Given the description of an element on the screen output the (x, y) to click on. 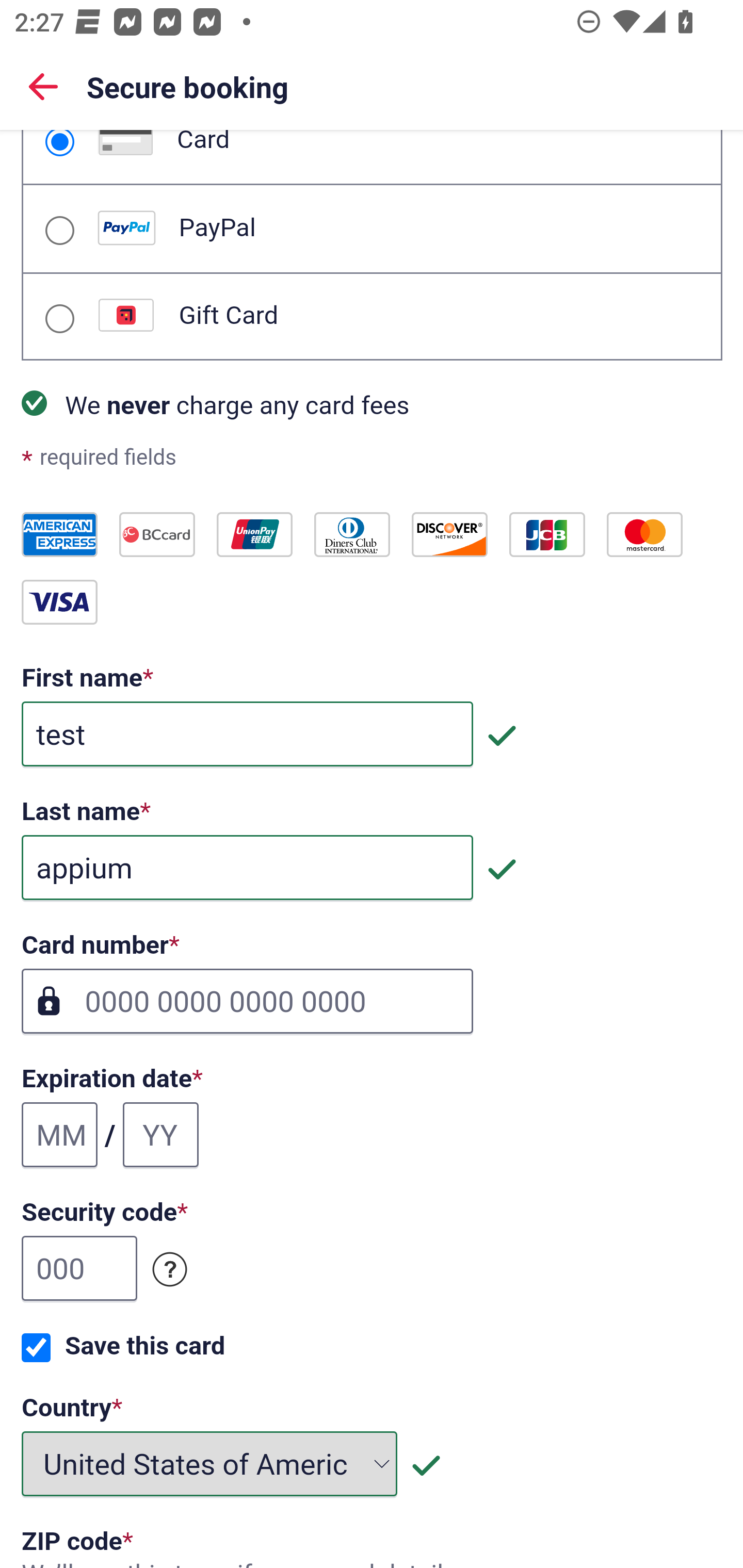
Back (43, 86)
Card (59, 143)
PayPal (59, 230)
Gift Card (59, 318)
test (247, 734)
appium (247, 868)
Security code (170, 1269)
Save this card (36, 1348)
United States of America (209, 1464)
